Given the description of an element on the screen output the (x, y) to click on. 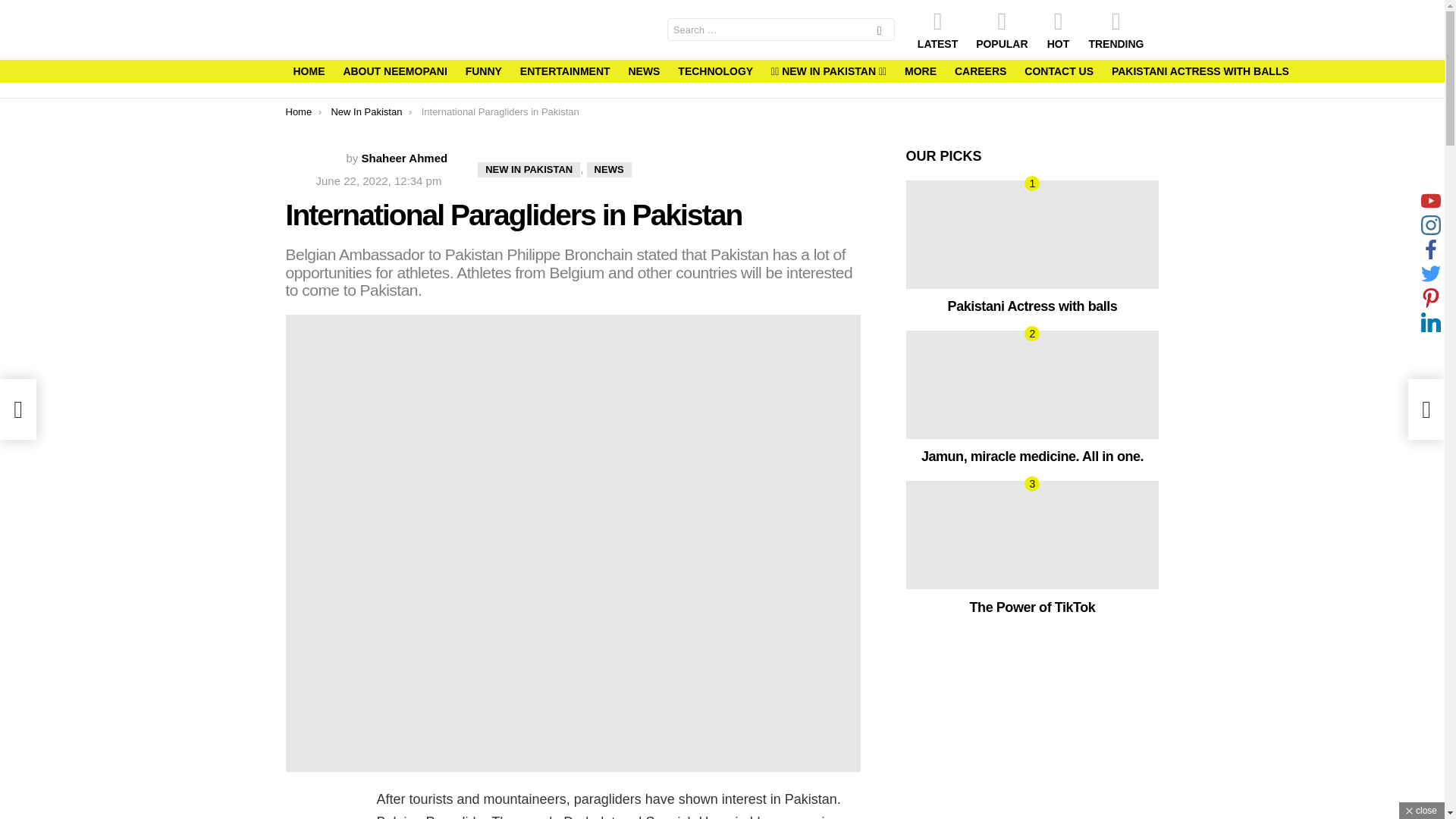
ABOUT NEEMOPANI (394, 70)
HOME (308, 70)
FUNNY (483, 70)
Search for: (780, 29)
TRENDING (1115, 29)
PAKISTANI ACTRESS WITH BALLS (1200, 70)
Home (298, 111)
NEWS (608, 169)
POPULAR (1001, 29)
LATEST (937, 29)
ENTERTAINMENT (564, 70)
NEW IN PAKISTAN (528, 169)
CAREERS (980, 70)
SEARCH (879, 31)
